Given the description of an element on the screen output the (x, y) to click on. 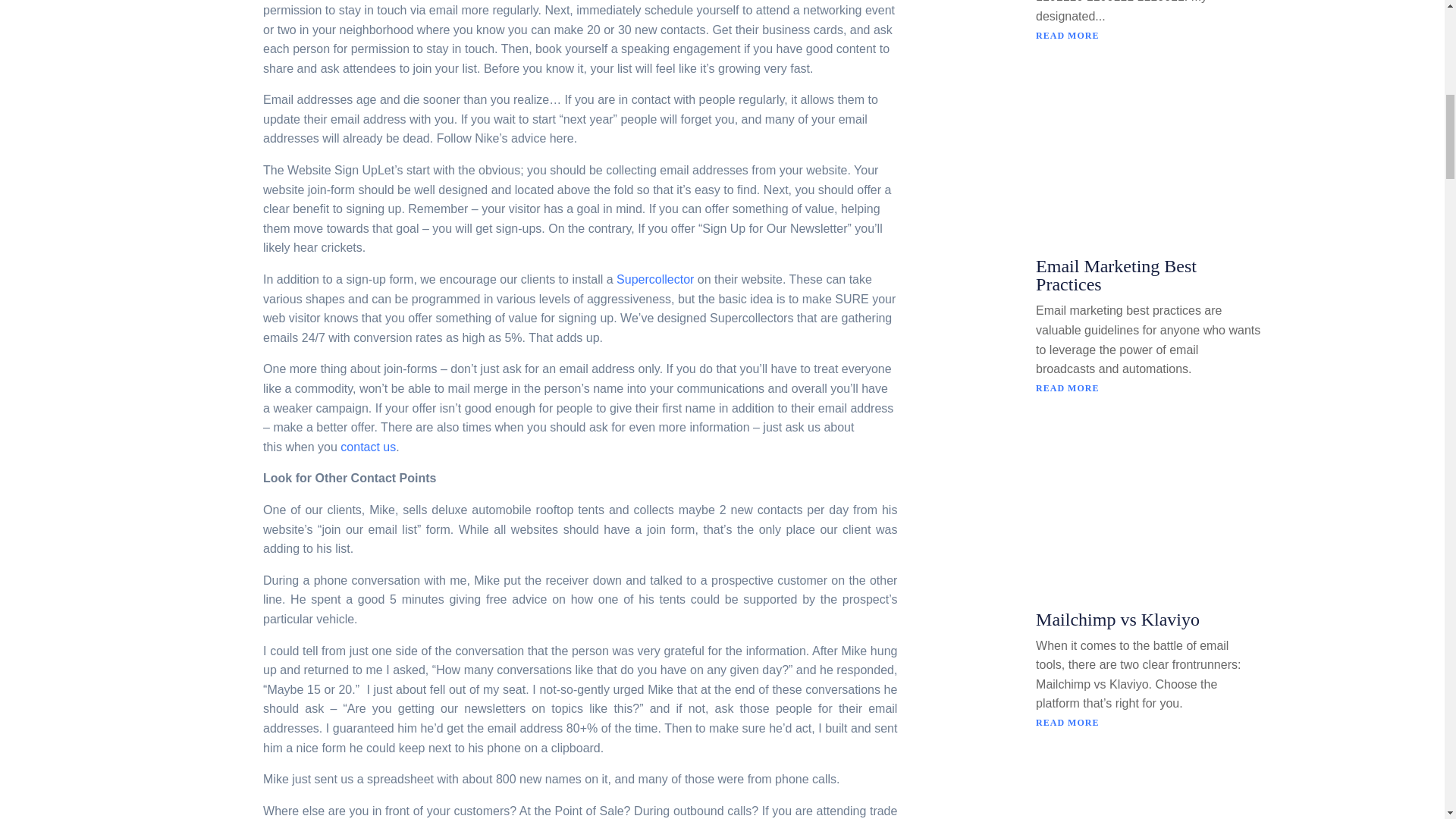
Mailchimp vs Klaviyo (1117, 619)
Email Marketing Best Practices (1115, 275)
Supercollector (654, 278)
READ MORE (1147, 388)
contact us (368, 446)
READ MORE (1147, 35)
READ MORE (1147, 723)
